Given the description of an element on the screen output the (x, y) to click on. 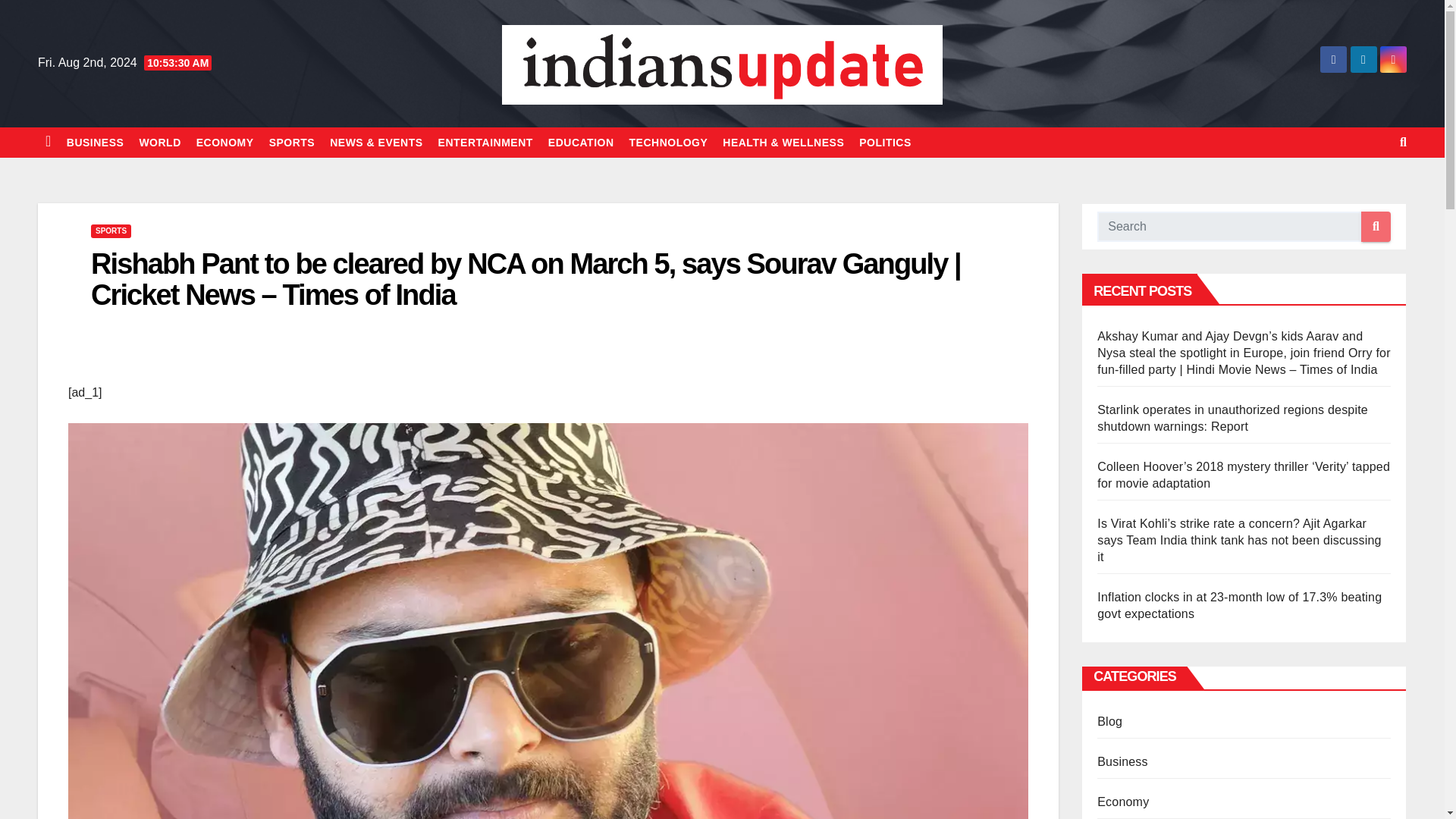
Sports (292, 142)
ENTERTAINMENT (485, 142)
Politics (884, 142)
Entertainment (485, 142)
ECONOMY (225, 142)
Technology (668, 142)
WORLD (159, 142)
Business (95, 142)
SPORTS (292, 142)
POLITICS (884, 142)
SPORTS (110, 231)
World (159, 142)
TECHNOLOGY (668, 142)
Education (580, 142)
BUSINESS (95, 142)
